Given the description of an element on the screen output the (x, y) to click on. 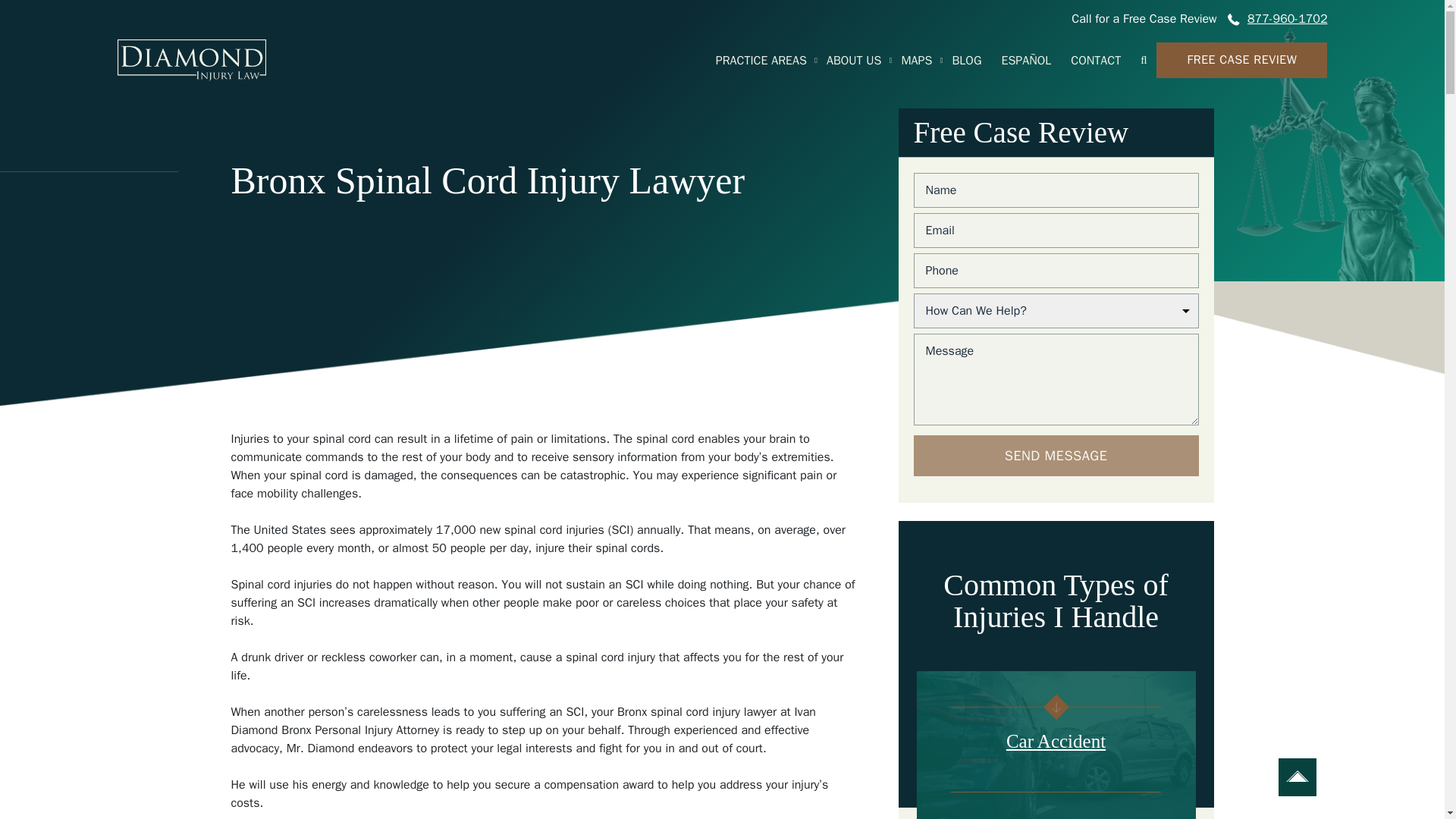
ABOUT US (854, 60)
Practice Areas (761, 60)
PRACTICE AREAS (761, 60)
MAPS (916, 60)
877-960-1702 (1285, 18)
